Given the description of an element on the screen output the (x, y) to click on. 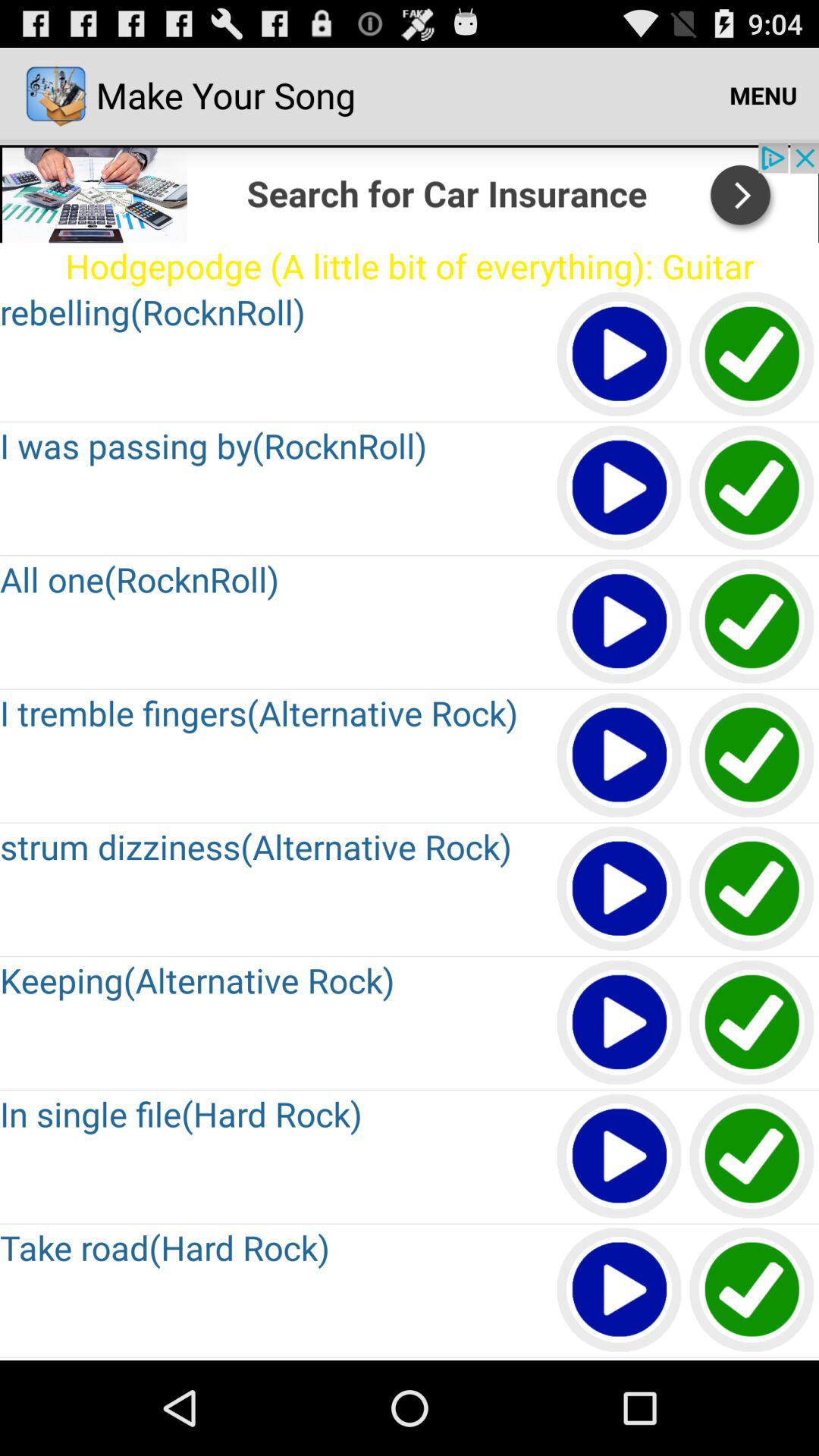
keeping option checked (752, 1023)
